Given the description of an element on the screen output the (x, y) to click on. 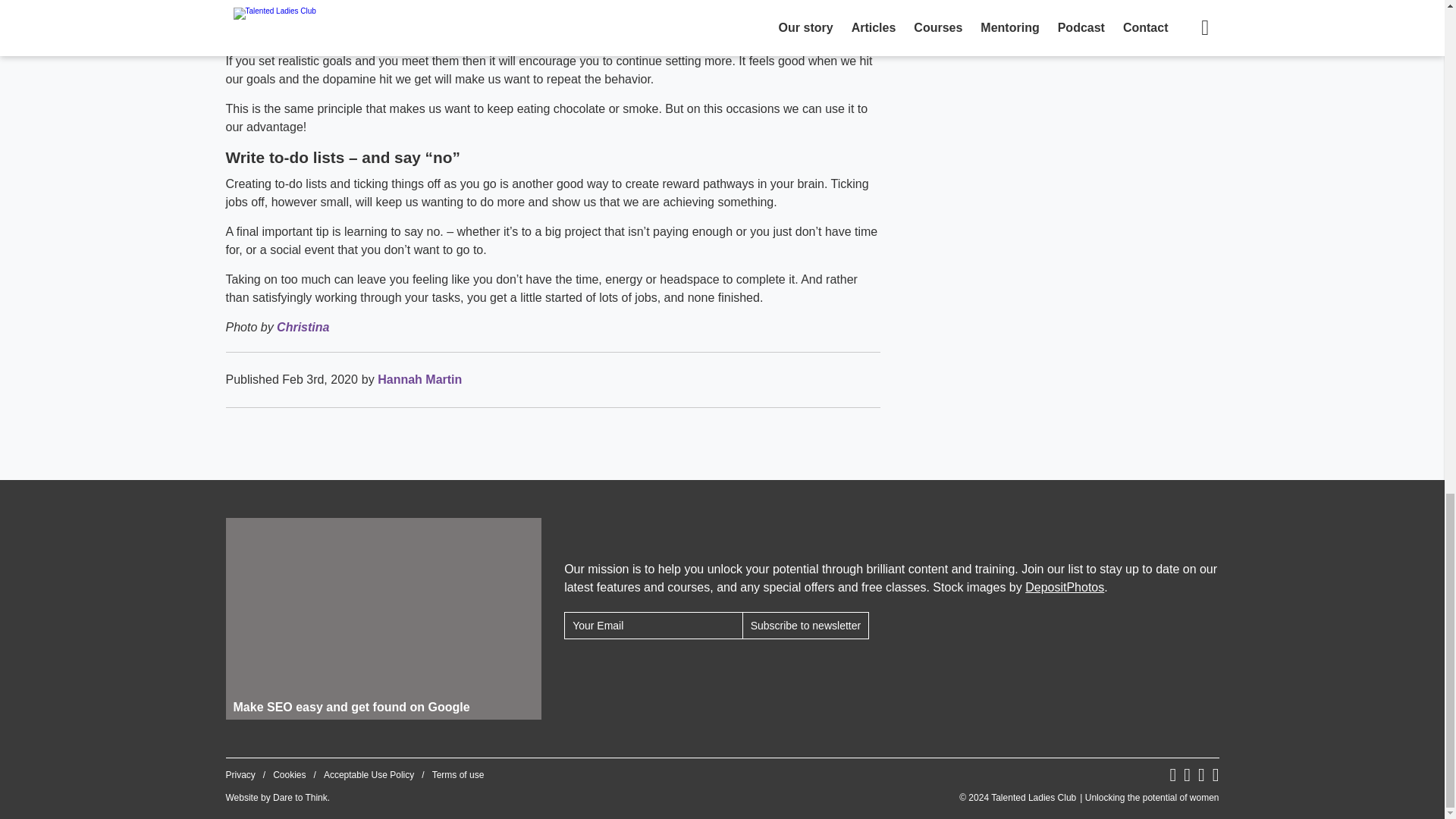
Subscribe to newsletter (805, 625)
Talented Ladies Club (1088, 797)
Website design and development services from Dare to Think (300, 797)
